Given the description of an element on the screen output the (x, y) to click on. 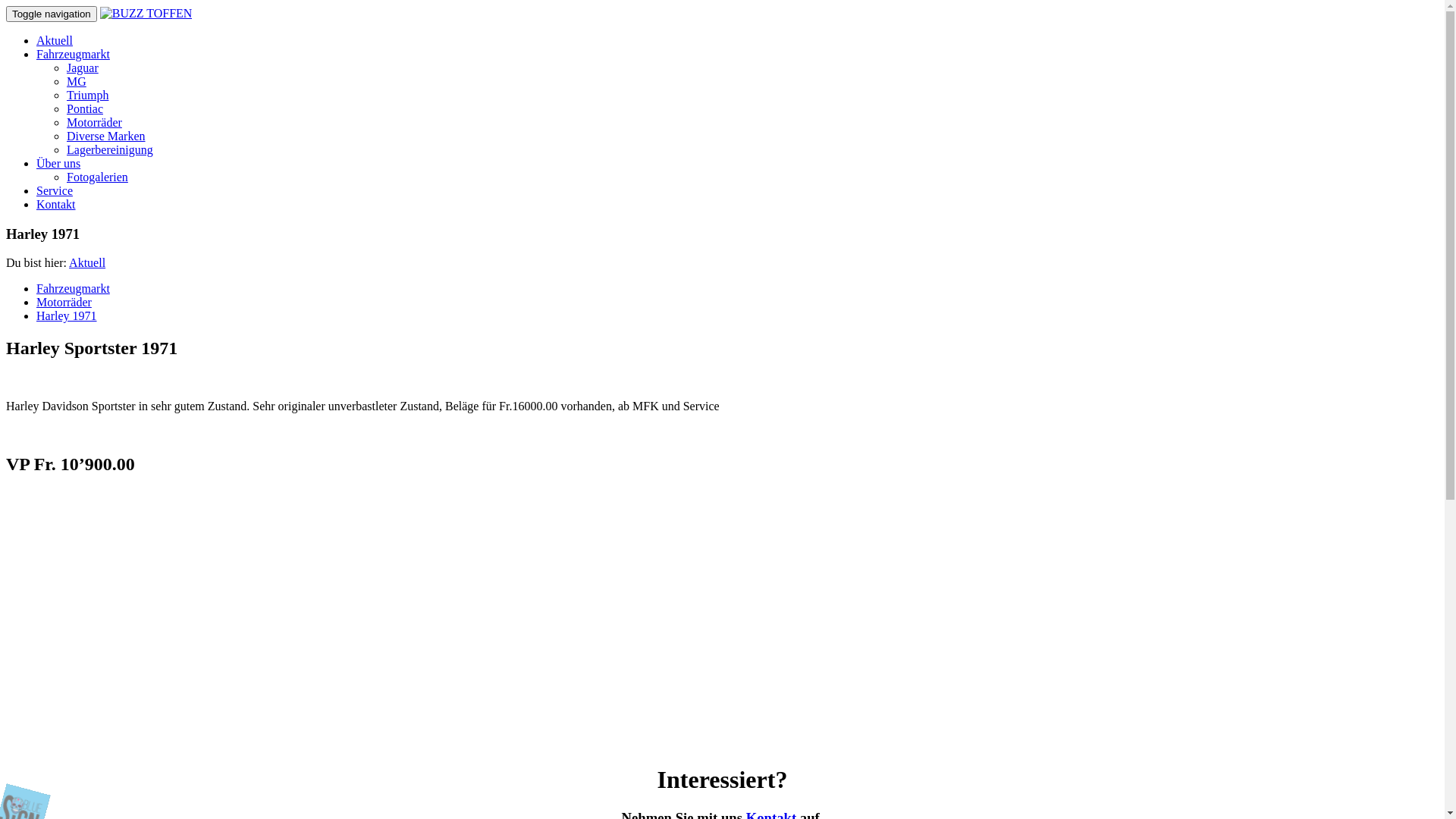
Fahrzeugmarkt Element type: text (72, 53)
Pontiac Element type: text (84, 108)
Aktuell Element type: text (54, 40)
Diverse Marken Element type: text (105, 135)
MG Element type: text (76, 81)
Aktuell Element type: text (87, 262)
Fahrzeugmarkt Element type: text (72, 288)
Jaguar Element type: text (82, 67)
Fotogalerien Element type: text (97, 176)
Service Element type: text (54, 190)
Lagerbereinigung Element type: text (109, 149)
Toggle navigation Element type: text (51, 13)
Kontakt Element type: text (55, 203)
Triumph Element type: text (87, 94)
Harley 1971 Element type: text (66, 315)
